Given the description of an element on the screen output the (x, y) to click on. 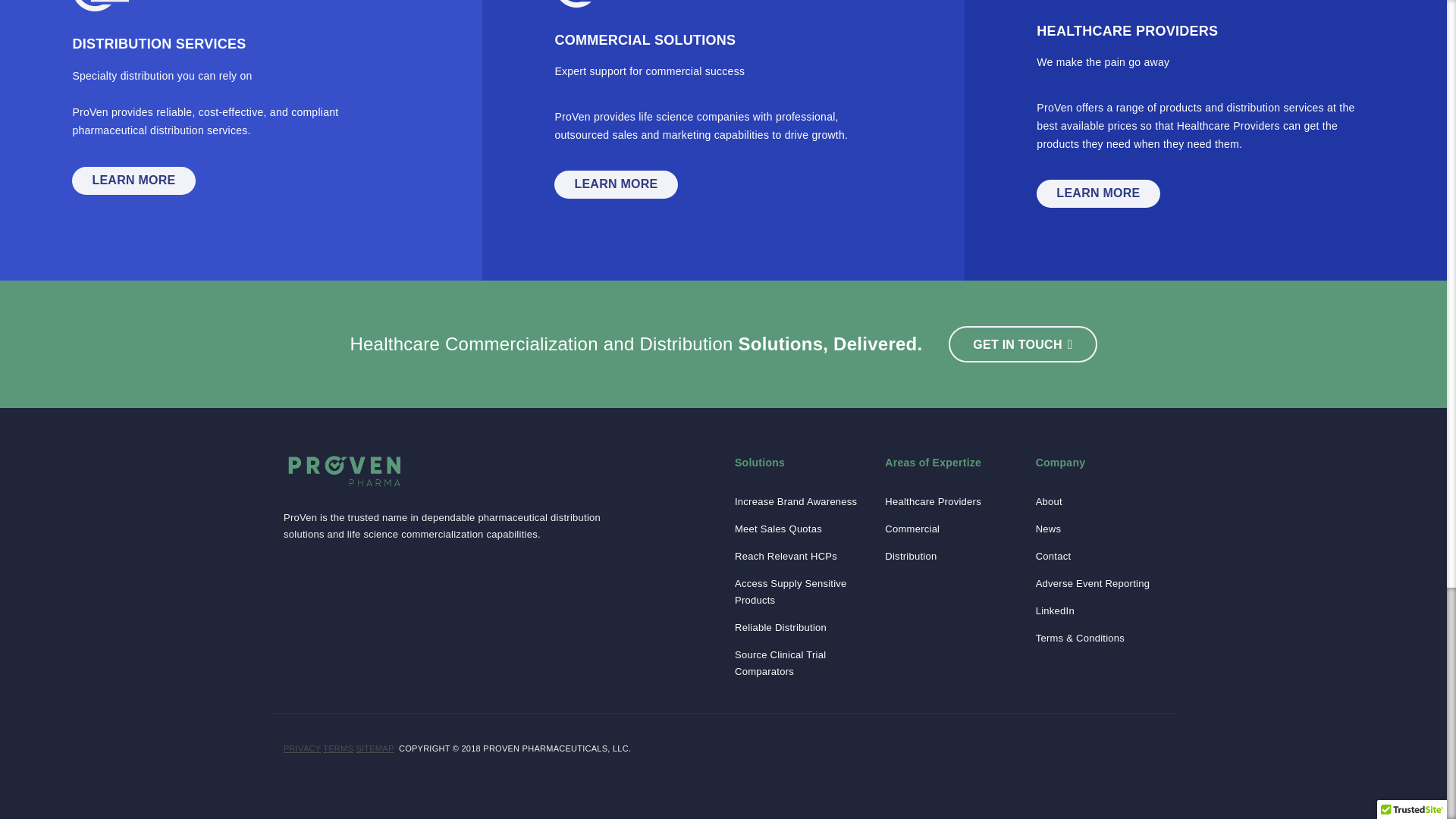
Access Supply Sensitive Products (798, 591)
LEARN MORE (615, 184)
Reach Relevant HCPs (786, 556)
GET IN TOUCH (1022, 343)
Sitemap (374, 747)
LEARN MORE (133, 180)
Increase Brand Awareness (796, 501)
LEARN MORE (1097, 193)
Meet Sales Quotas (778, 528)
Terms And Conditions (338, 747)
Privacy Policy (301, 747)
